Given the description of an element on the screen output the (x, y) to click on. 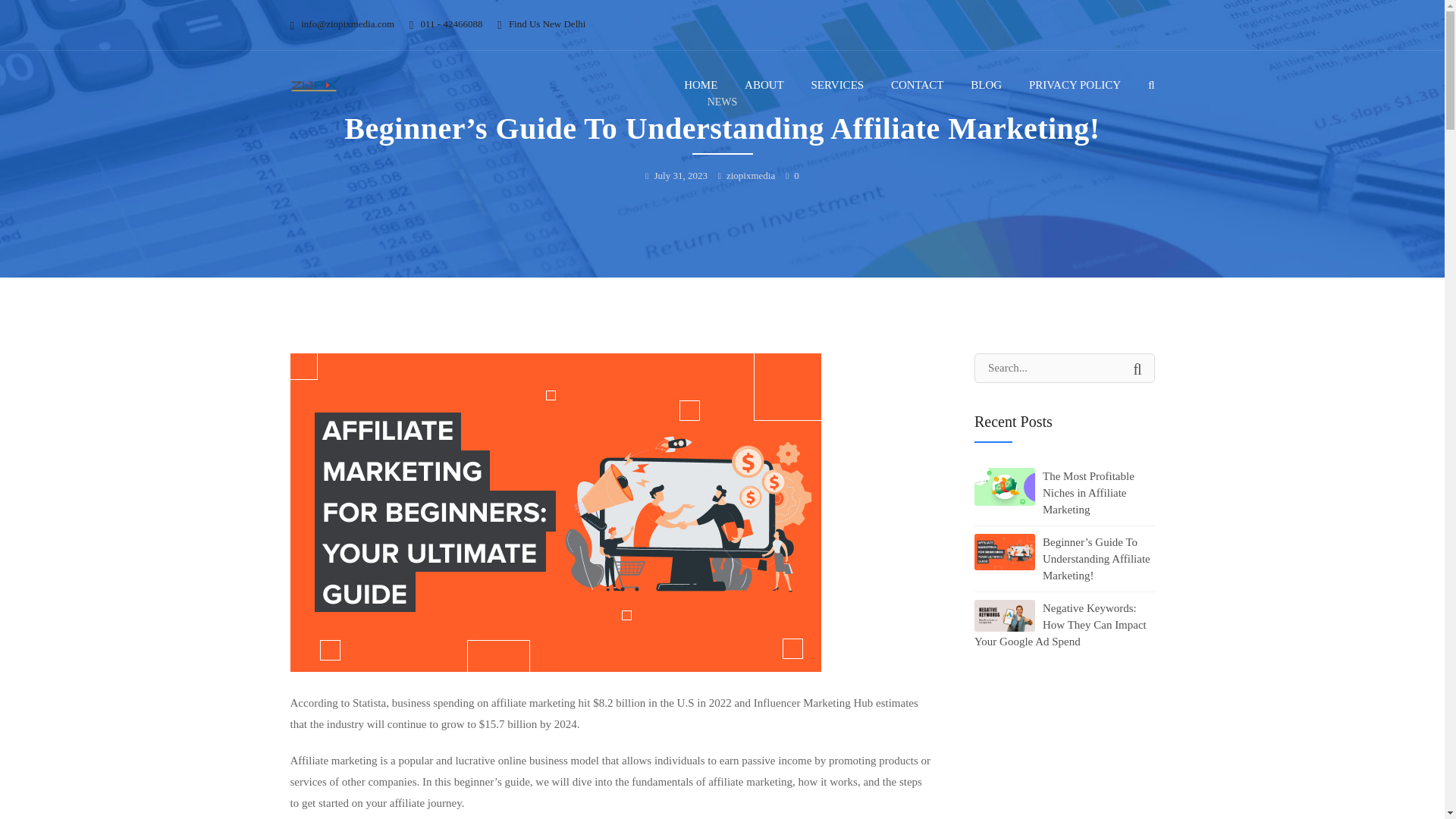
Negative Keywords: How They Can Impact Your Google Ad Spend (1064, 623)
Search (1137, 368)
The Most Profitable Niches in Affiliate Marketing (1064, 491)
011 - 42466088 (451, 23)
NEWS (722, 101)
PRIVACY POLICY (1075, 84)
